Given the description of an element on the screen output the (x, y) to click on. 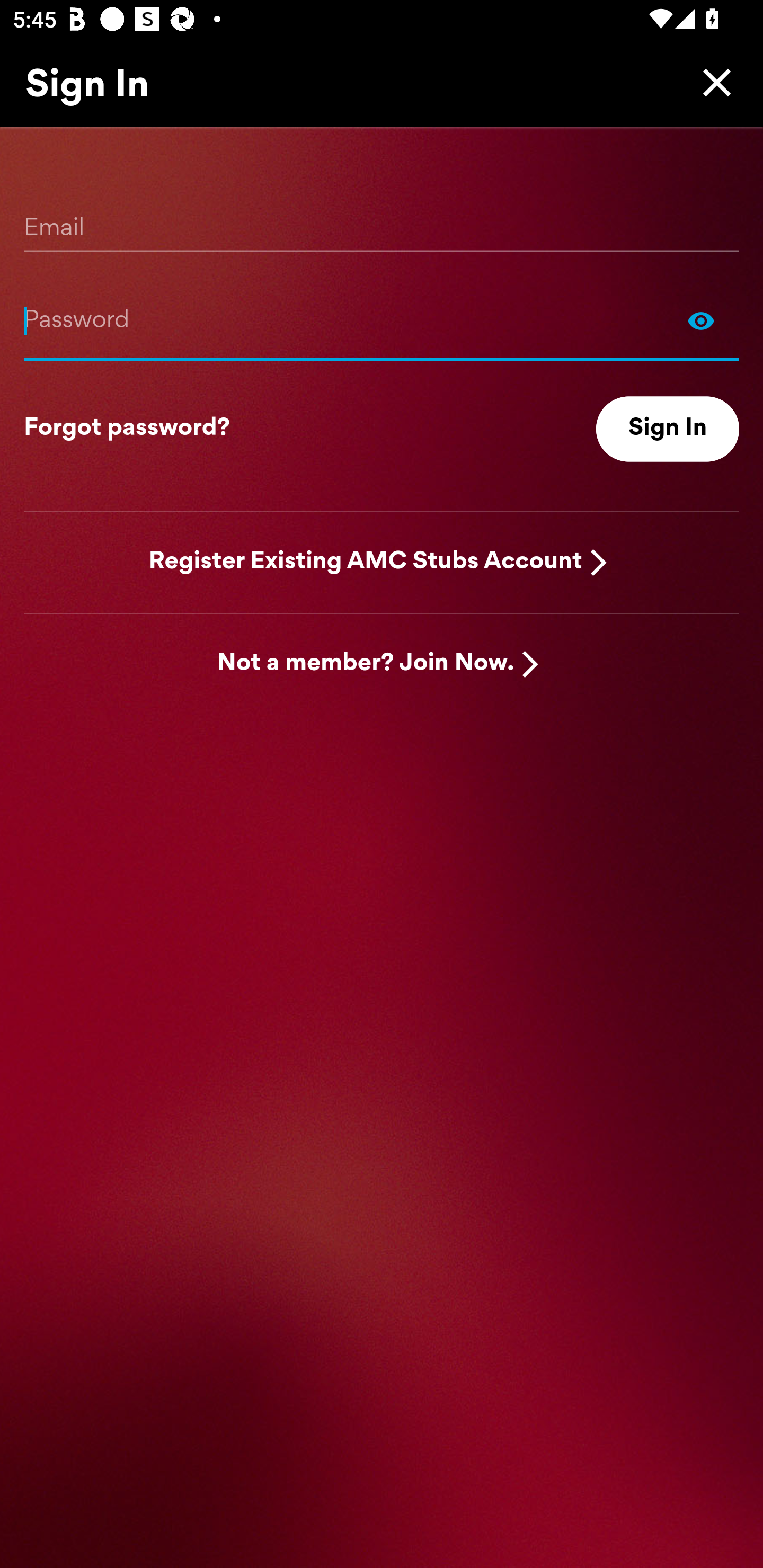
Close (712, 82)
Show Password (381, 320)
Show Password (701, 320)
Forgot password? (126, 428)
Sign In (667, 428)
Register Existing AMC Stubs Account (365, 561)
Not a member? Join Now. (365, 663)
